Given the description of an element on the screen output the (x, y) to click on. 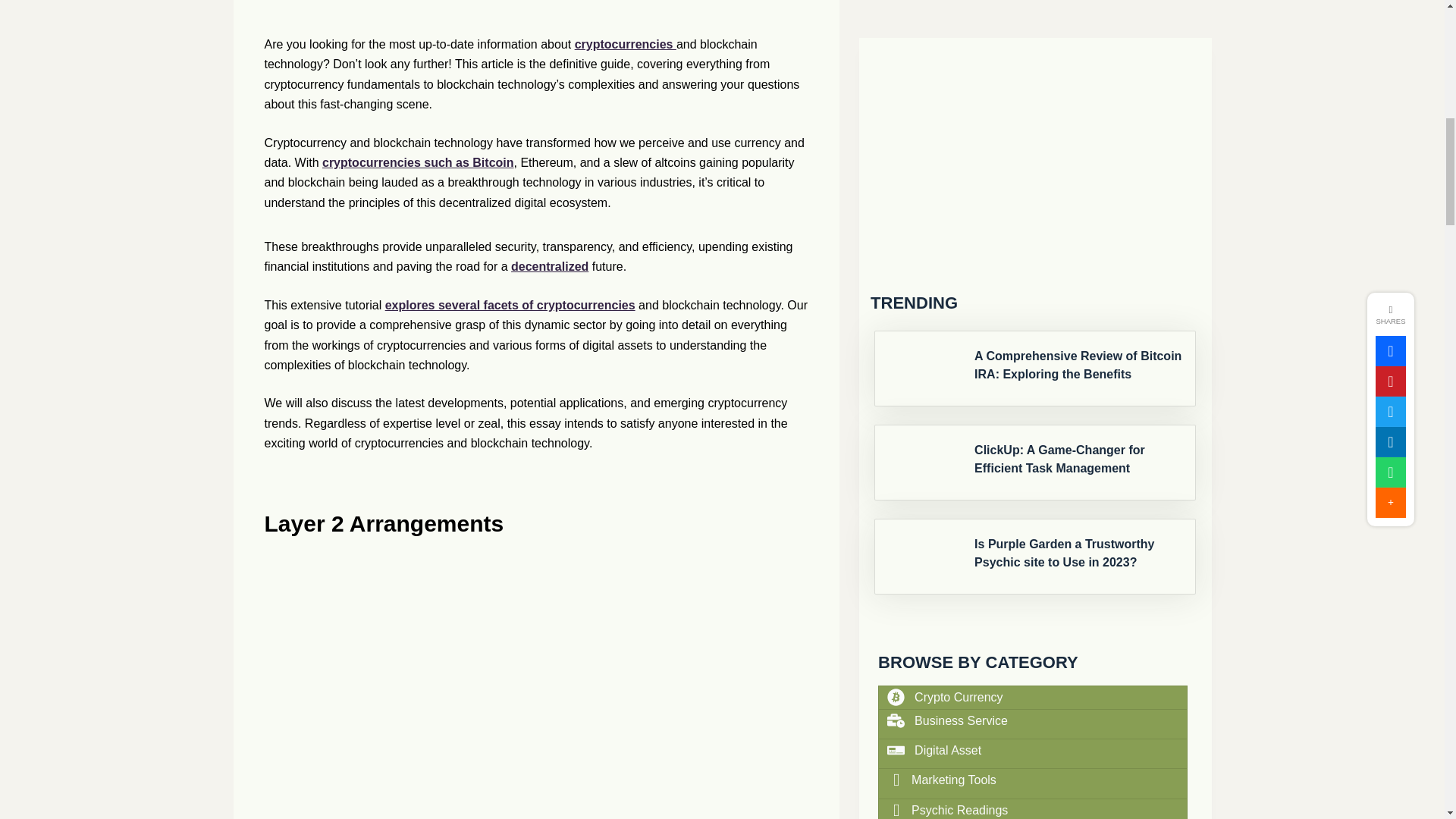
Business Service (960, 232)
cryptocurrencies such as Bitcoin (417, 162)
cryptocurrencies (626, 43)
explores several facets of cryptocurrencies (509, 305)
decentralized (549, 266)
Crypto Currency (958, 208)
Is Purple Garden a Trustworthy Psychic site to Use in 2023? (1078, 64)
